Given the description of an element on the screen output the (x, y) to click on. 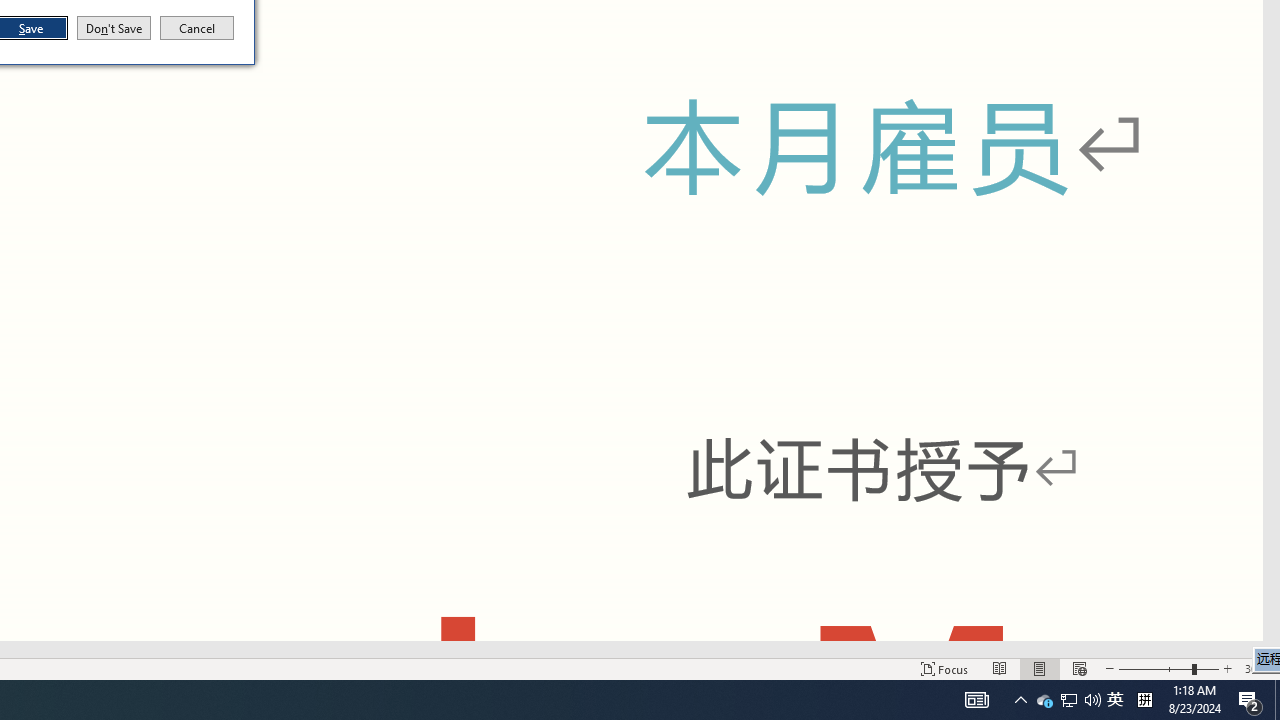
Notification Chevron (1020, 699)
Cancel (197, 27)
Don't Save (113, 27)
Action Center, 2 new notifications (1250, 699)
Print Layout (1039, 668)
User Promoted Notification Area (1068, 699)
